Given the description of an element on the screen output the (x, y) to click on. 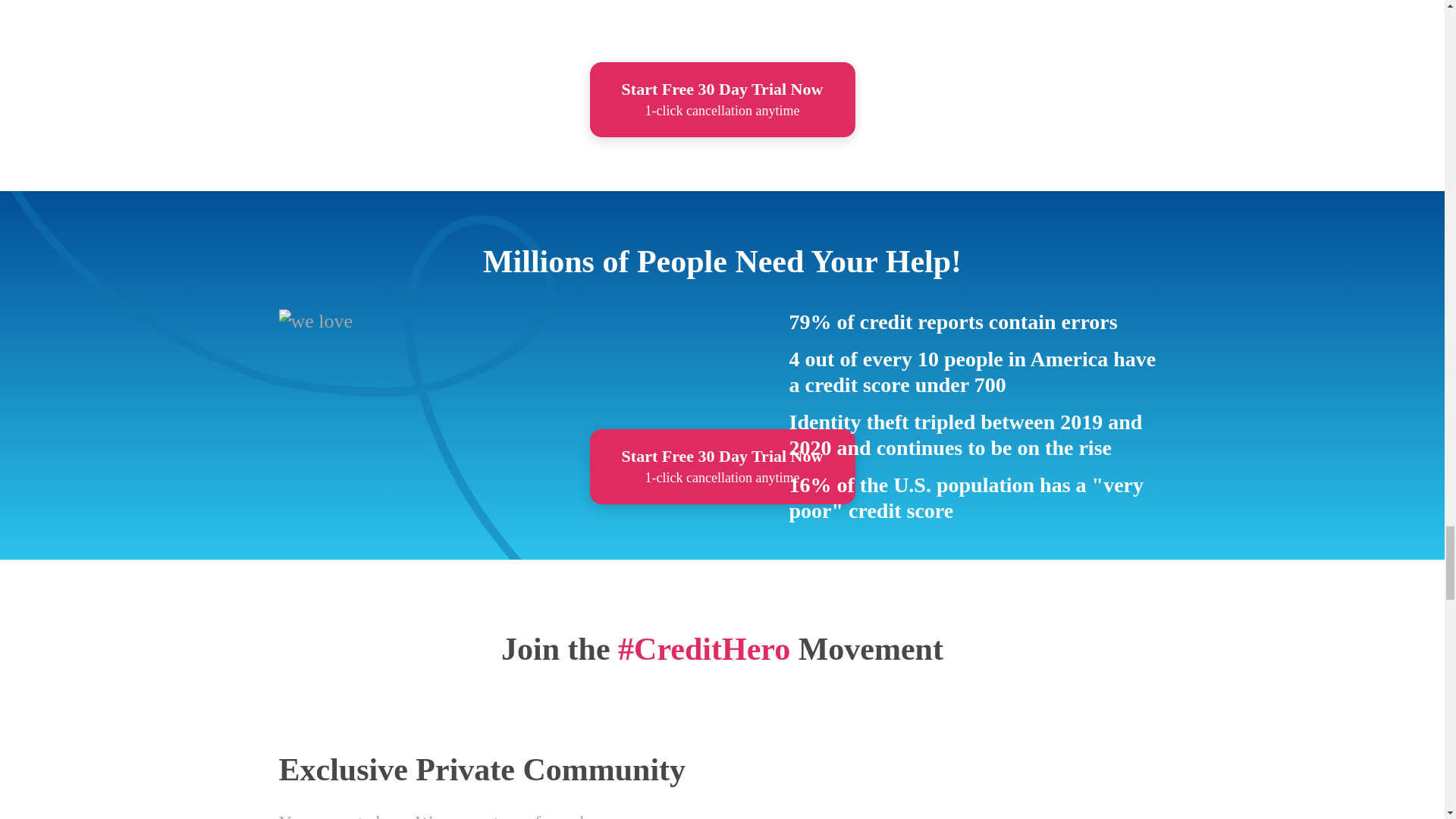
Start Free 30 Day Trial Now 1-click cancellation anytime (722, 466)
Start Free 30 Day Trial Now 1-click cancellation anytime (722, 99)
